Given the description of an element on the screen output the (x, y) to click on. 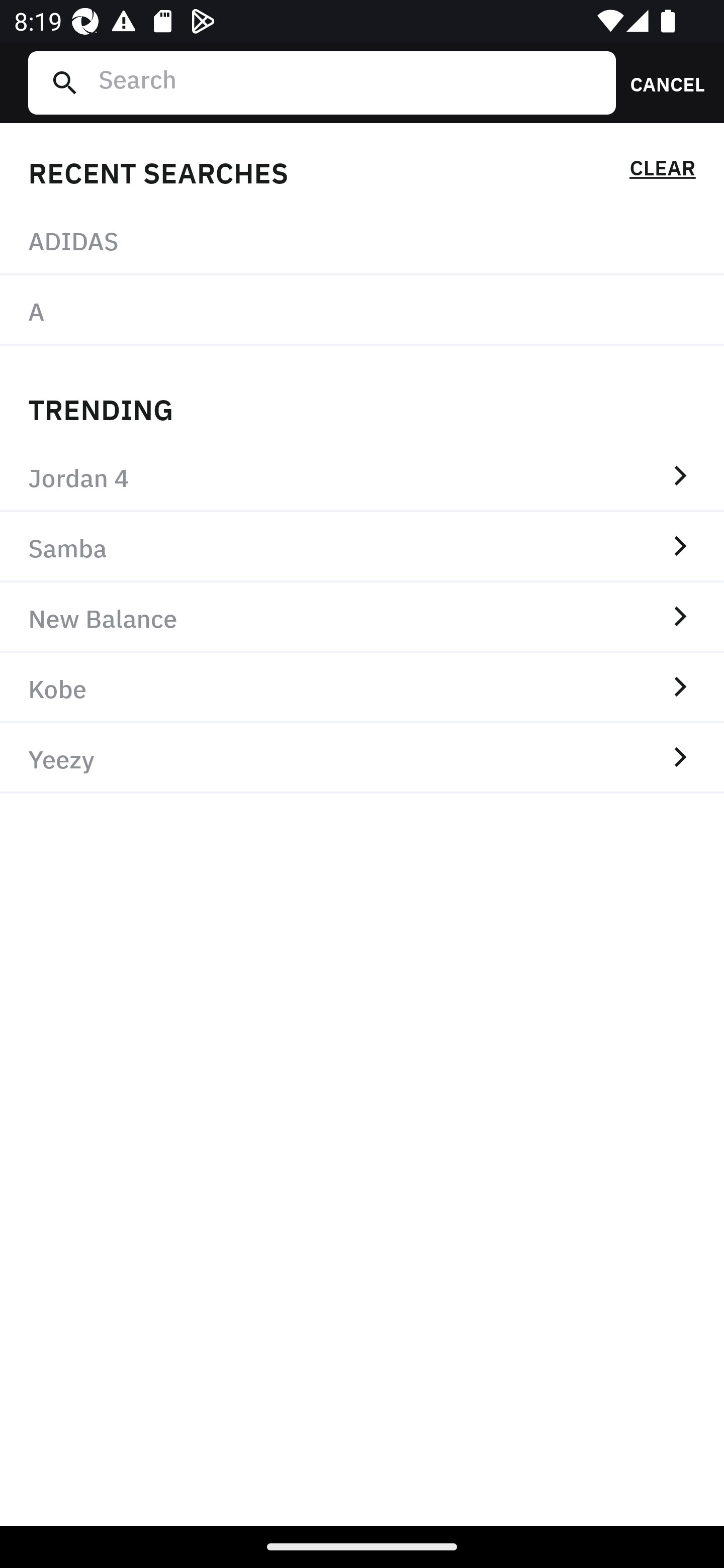
CANCEL (660, 82)
Search (349, 82)
CLEAR (662, 170)
ADIDAS (362, 240)
A (362, 310)
Jordan 4  (362, 477)
Samba  (362, 546)
New Balance  (362, 616)
Kobe  (362, 687)
Yeezy  (362, 757)
